Given the description of an element on the screen output the (x, y) to click on. 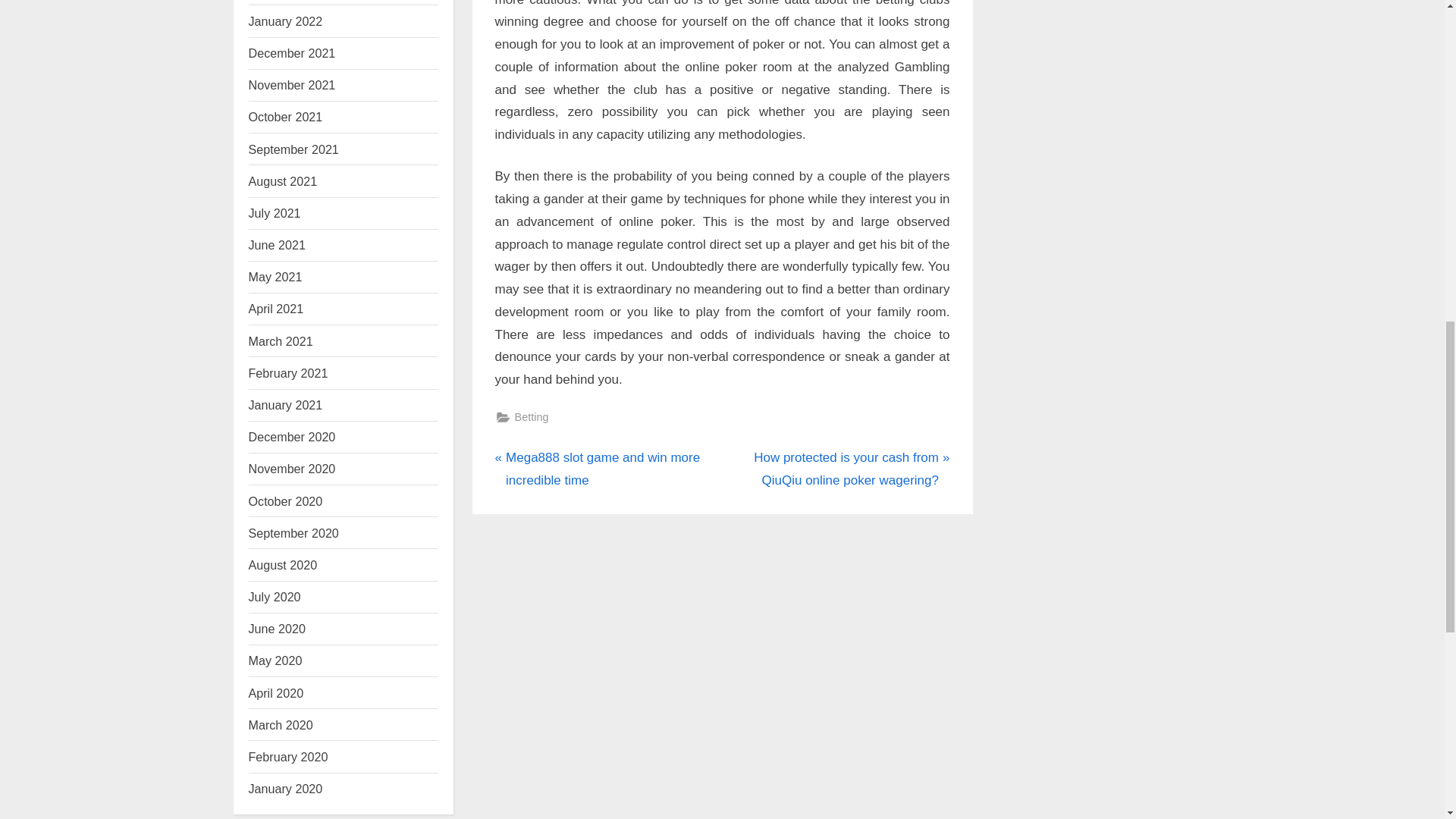
October 2021 (285, 116)
Betting (530, 416)
January 2022 (285, 20)
September 2021 (293, 149)
December 2021 (292, 52)
November 2021 (292, 84)
